Given the description of an element on the screen output the (x, y) to click on. 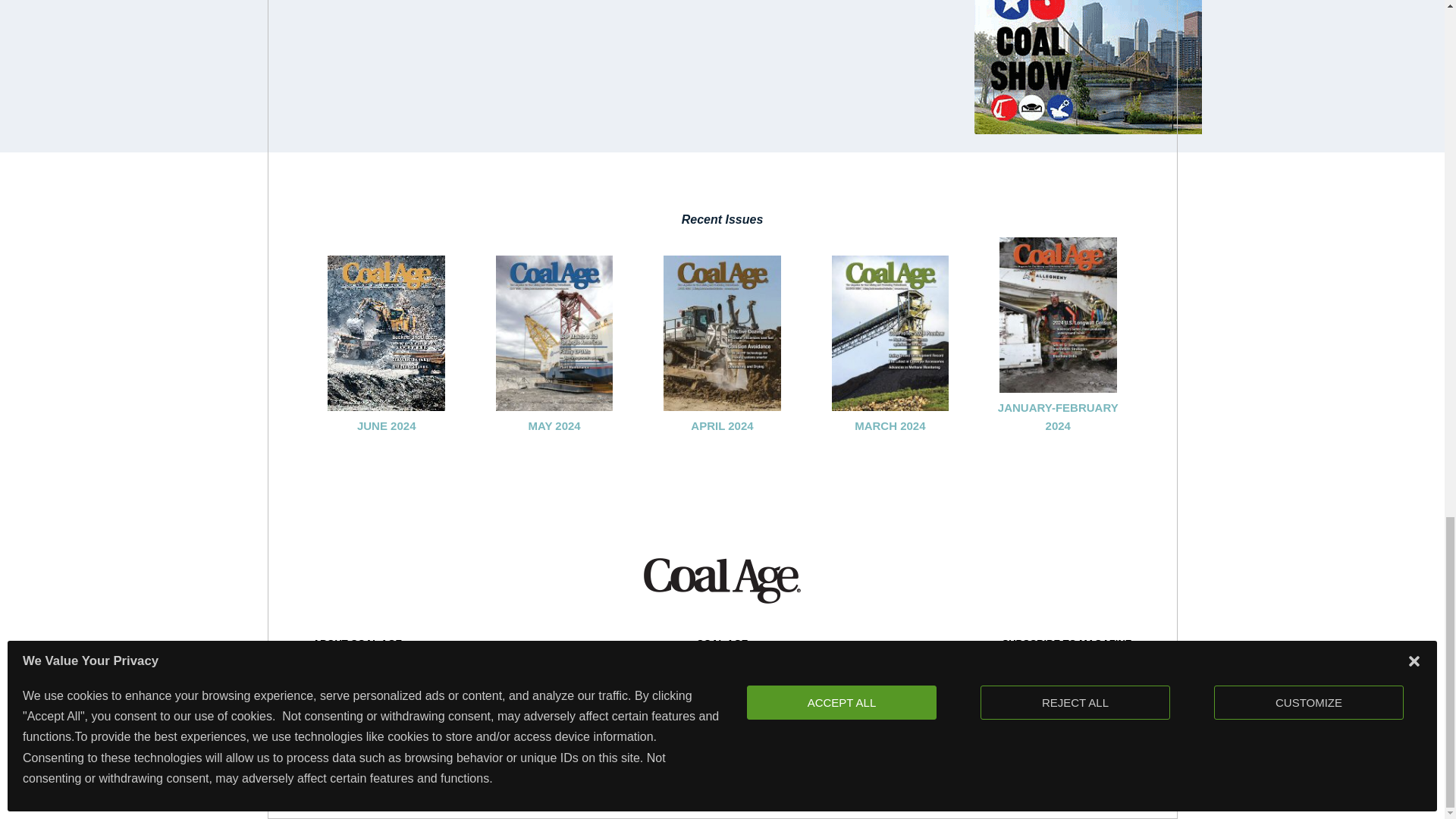
Coal Age logo (722, 580)
